Given the description of an element on the screen output the (x, y) to click on. 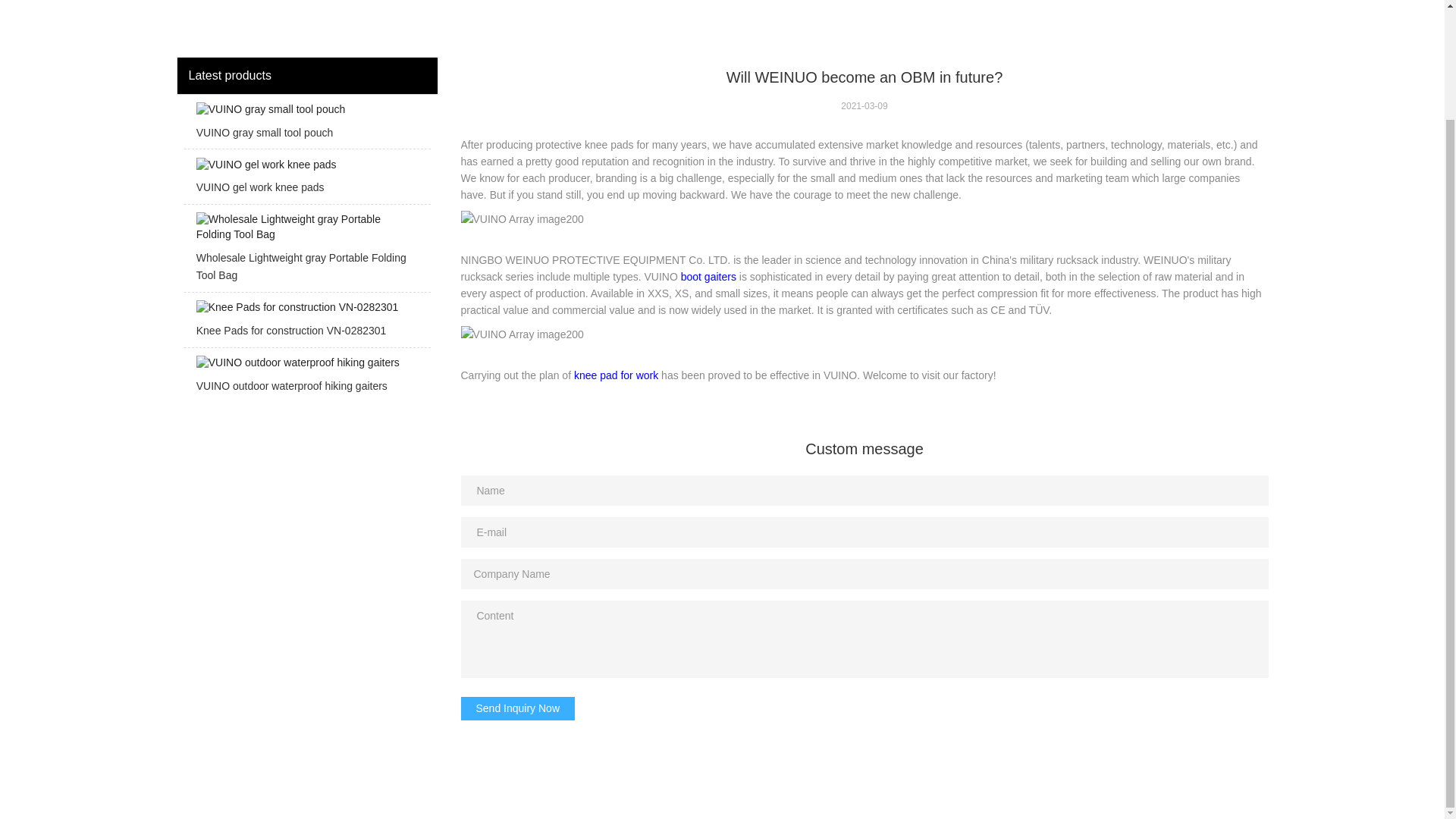
VUINO outdoor waterproof hiking gaiters (306, 378)
VUINO gel work knee pads (306, 180)
Wholesale Lightweight gray Portable Folding Tool Bag (306, 251)
Send Inquiry Now (518, 708)
boot gaiters (708, 276)
knee pad for work (615, 375)
Knee Pads for construction VN-0282301 (306, 323)
VUINO gray small tool pouch (306, 125)
